Given the description of an element on the screen output the (x, y) to click on. 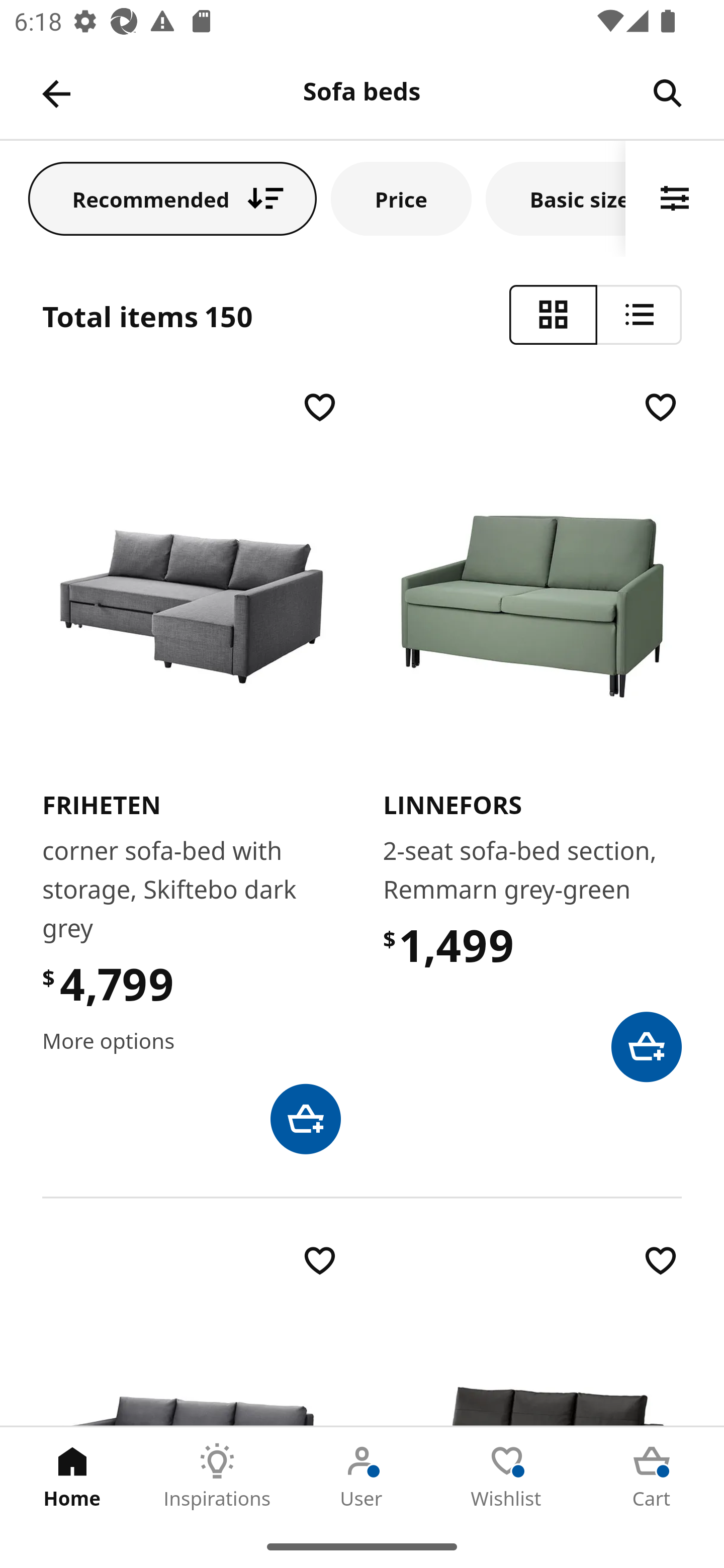
Recommended (172, 198)
Price (400, 198)
Basic sizes (555, 198)
Home
Tab 1 of 5 (72, 1476)
Inspirations
Tab 2 of 5 (216, 1476)
User
Tab 3 of 5 (361, 1476)
Wishlist
Tab 4 of 5 (506, 1476)
Cart
Tab 5 of 5 (651, 1476)
